Given the description of an element on the screen output the (x, y) to click on. 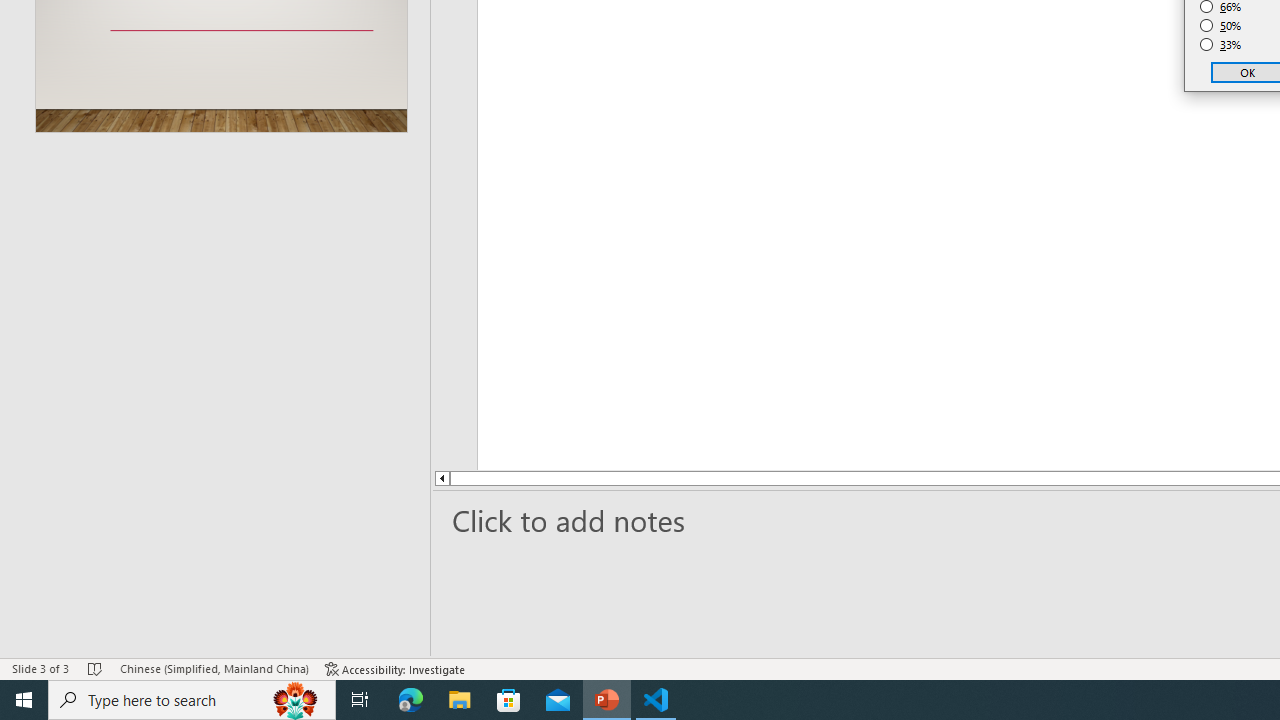
Microsoft Edge (411, 699)
Search highlights icon opens search home window (295, 699)
Type here to search (191, 699)
50% (1221, 25)
Task View (359, 699)
Start (24, 699)
PowerPoint - 1 running window (607, 699)
Line up (381, 478)
Visual Studio Code - 1 running window (656, 699)
File Explorer (460, 699)
33% (1221, 44)
Microsoft Store (509, 699)
